Given the description of an element on the screen output the (x, y) to click on. 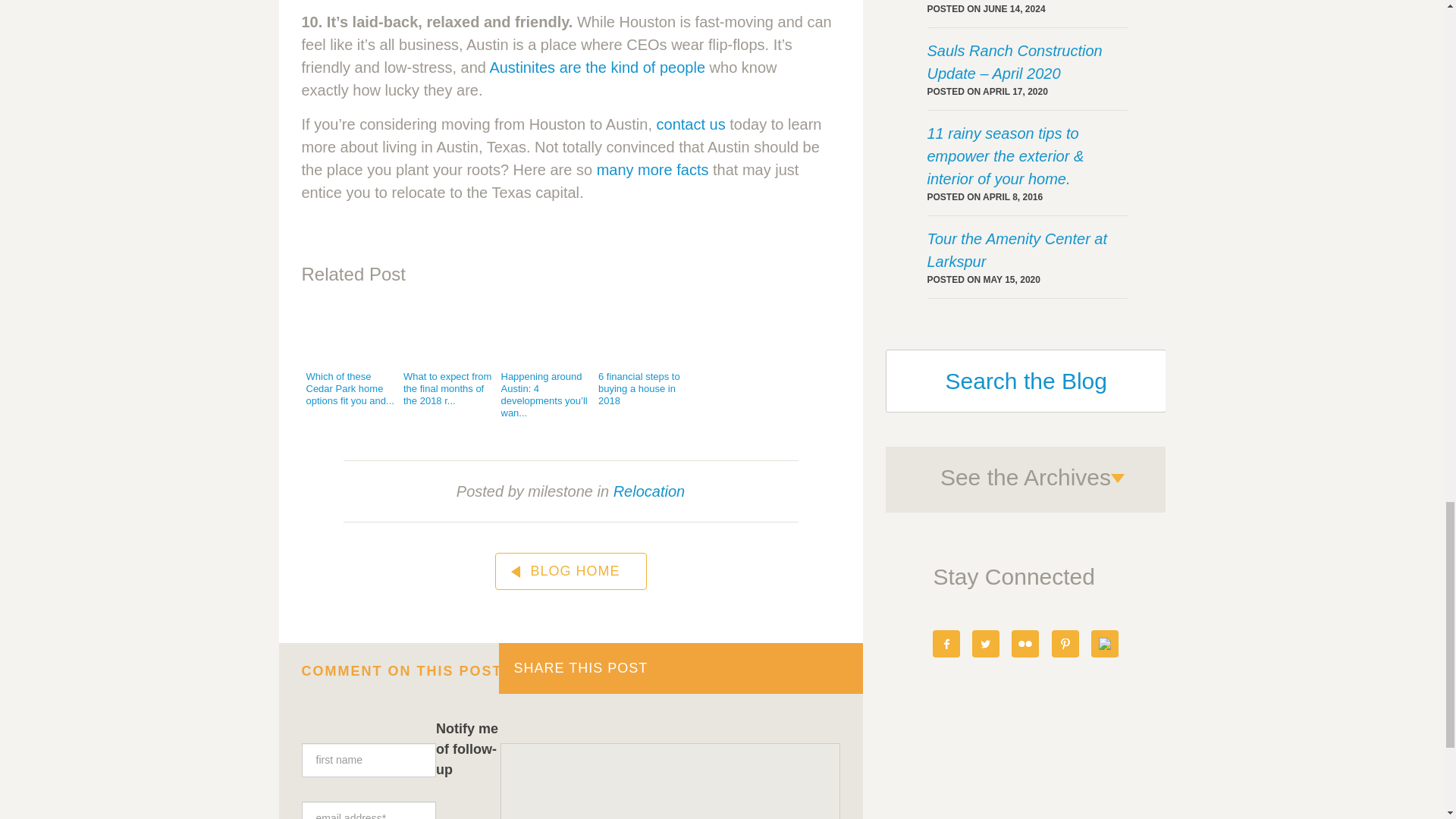
SHARE THIS POST (681, 667)
Search for: (1025, 380)
contact us (690, 124)
Austinites are the kind of people (596, 67)
many more facts (652, 169)
Relocation (648, 491)
BLOG HOME (570, 570)
Tour the Amenity Center at Larkspur (1026, 249)
